Given the description of an element on the screen output the (x, y) to click on. 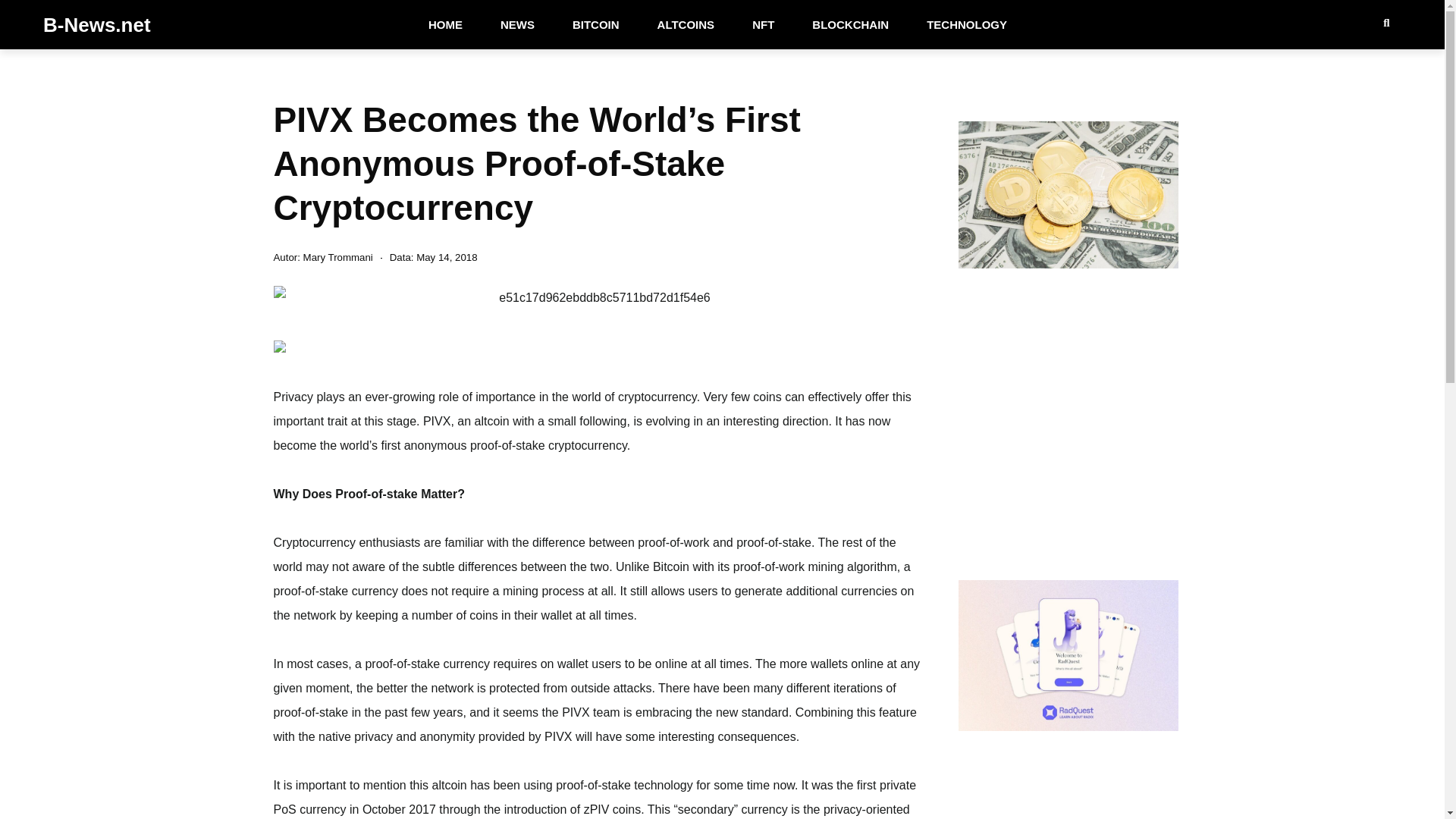
NEWS (517, 24)
B-News.net (97, 24)
TECHNOLOGY (966, 24)
e51c17d962ebddb8c5711bd72d1f54e6 (598, 297)
HOME (445, 24)
BLOCKCHAIN (850, 24)
NFT (763, 24)
BITCOIN (596, 24)
ALTCOINS (686, 24)
